Given the description of an element on the screen output the (x, y) to click on. 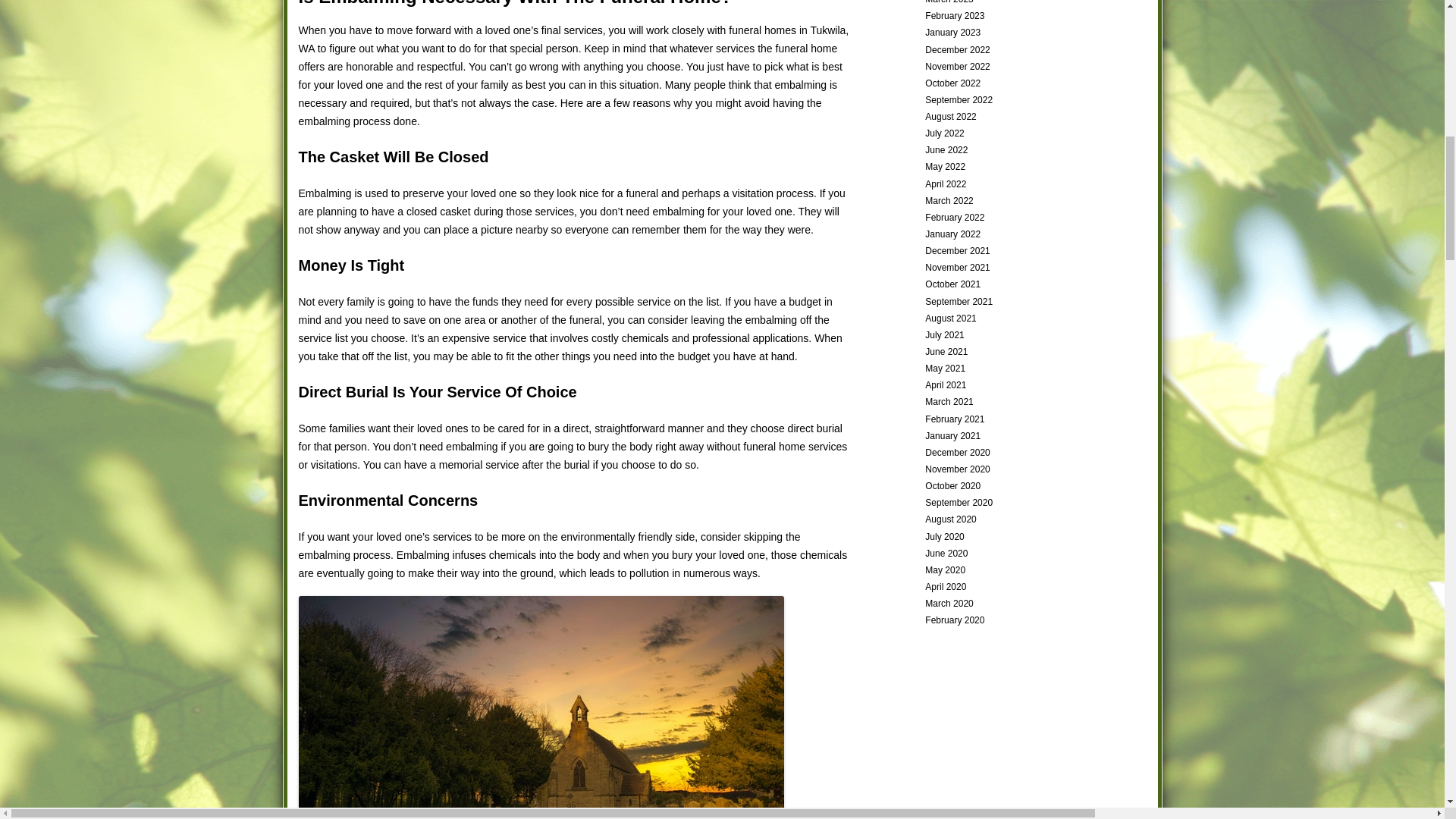
funeral home offers are honorable and respectful (568, 57)
funeral homes in Tukwila, WA (573, 39)
Is Embalming Necessary With The Funeral Home? (515, 3)
